Given the description of an element on the screen output the (x, y) to click on. 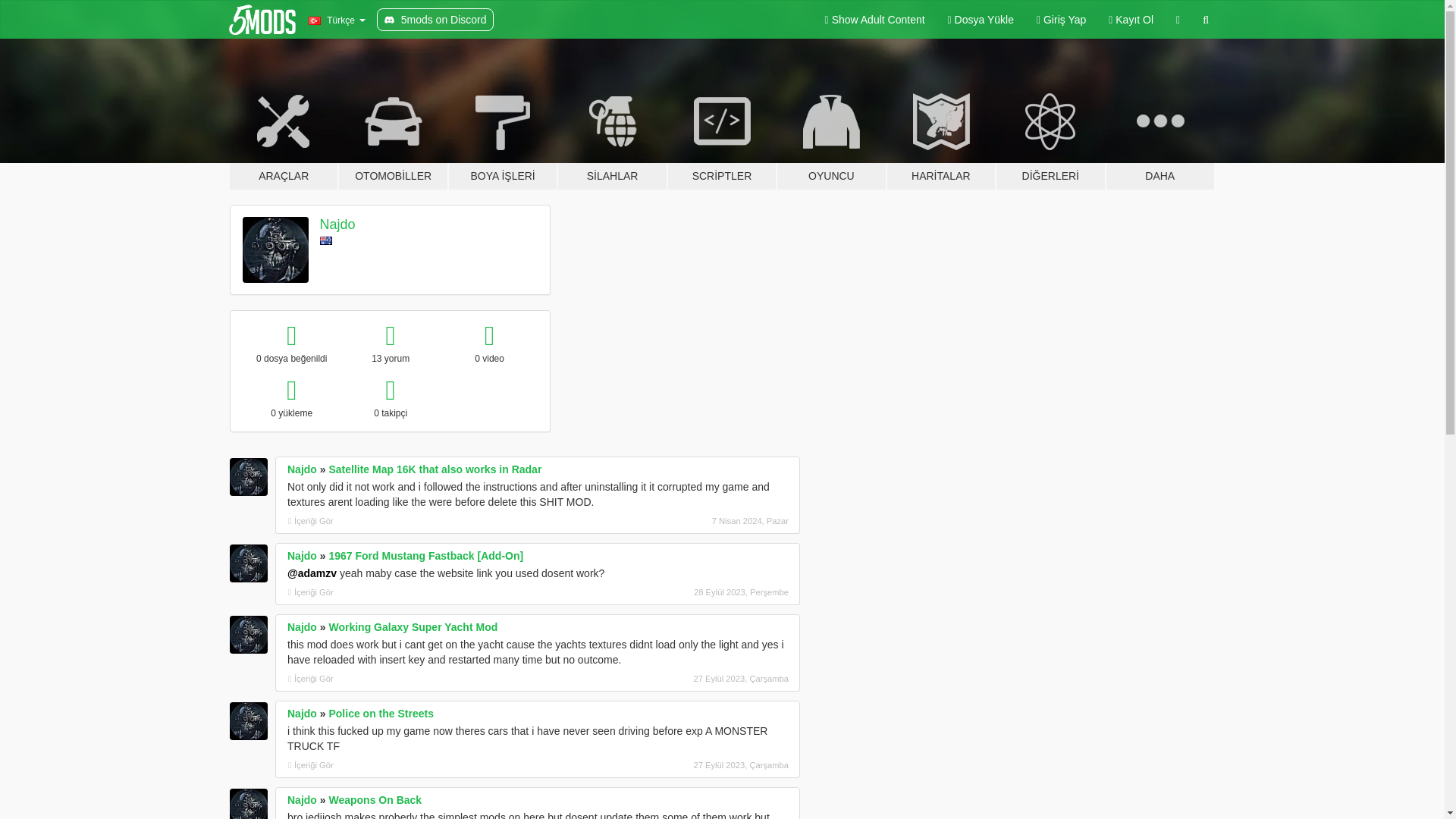
Avustralya (325, 240)
Show Adult Content (874, 19)
Pzr 07.Nis.24 03:18 (708, 520)
5mods on Discord (435, 19)
Light mode (874, 19)
